Given the description of an element on the screen output the (x, y) to click on. 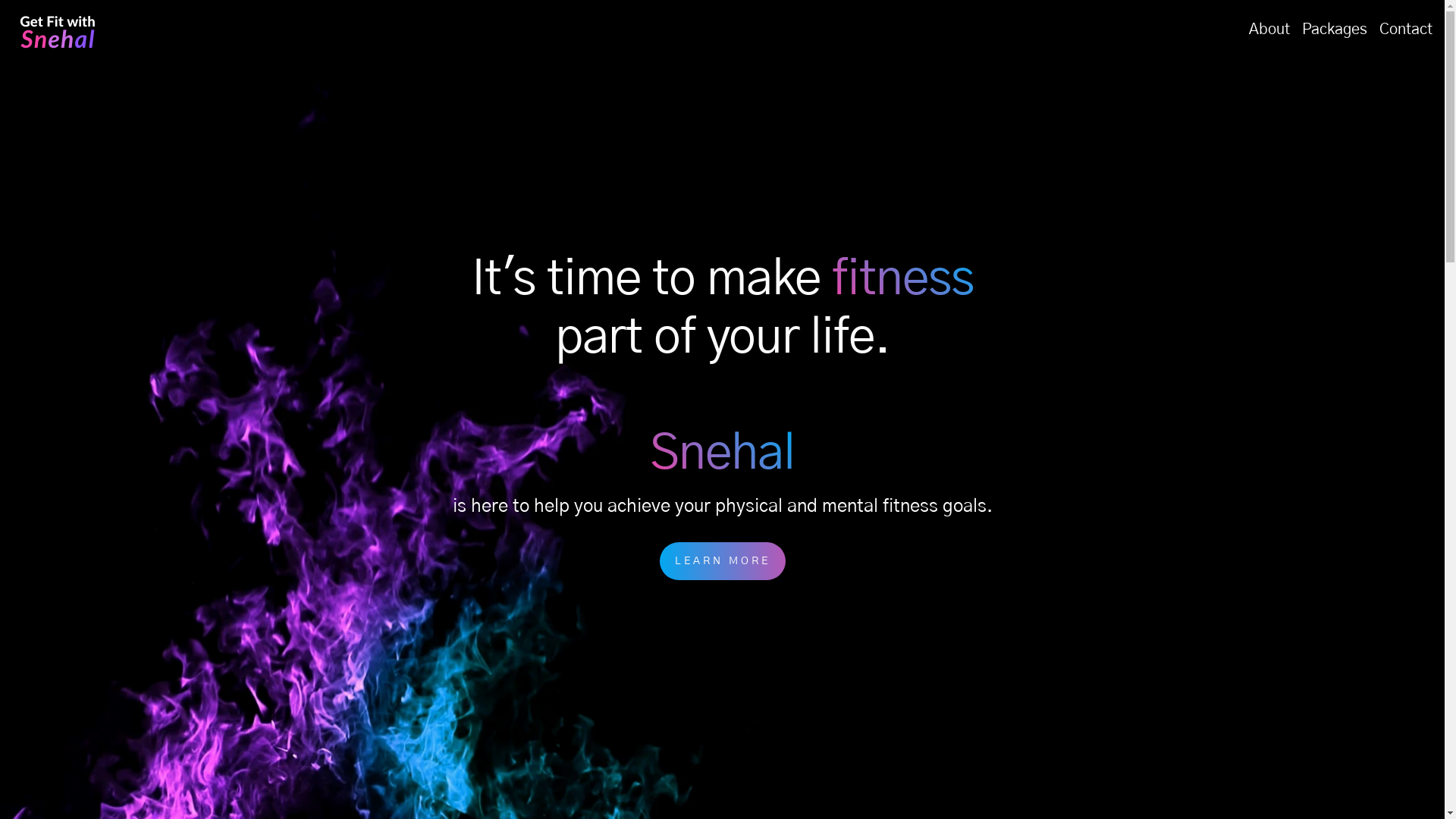
LEARN MORE Element type: text (721, 561)
Contact Element type: text (1405, 29)
LEARN MORE Element type: text (722, 561)
Packages Element type: text (1334, 29)
About Element type: text (1268, 29)
